Given the description of an element on the screen output the (x, y) to click on. 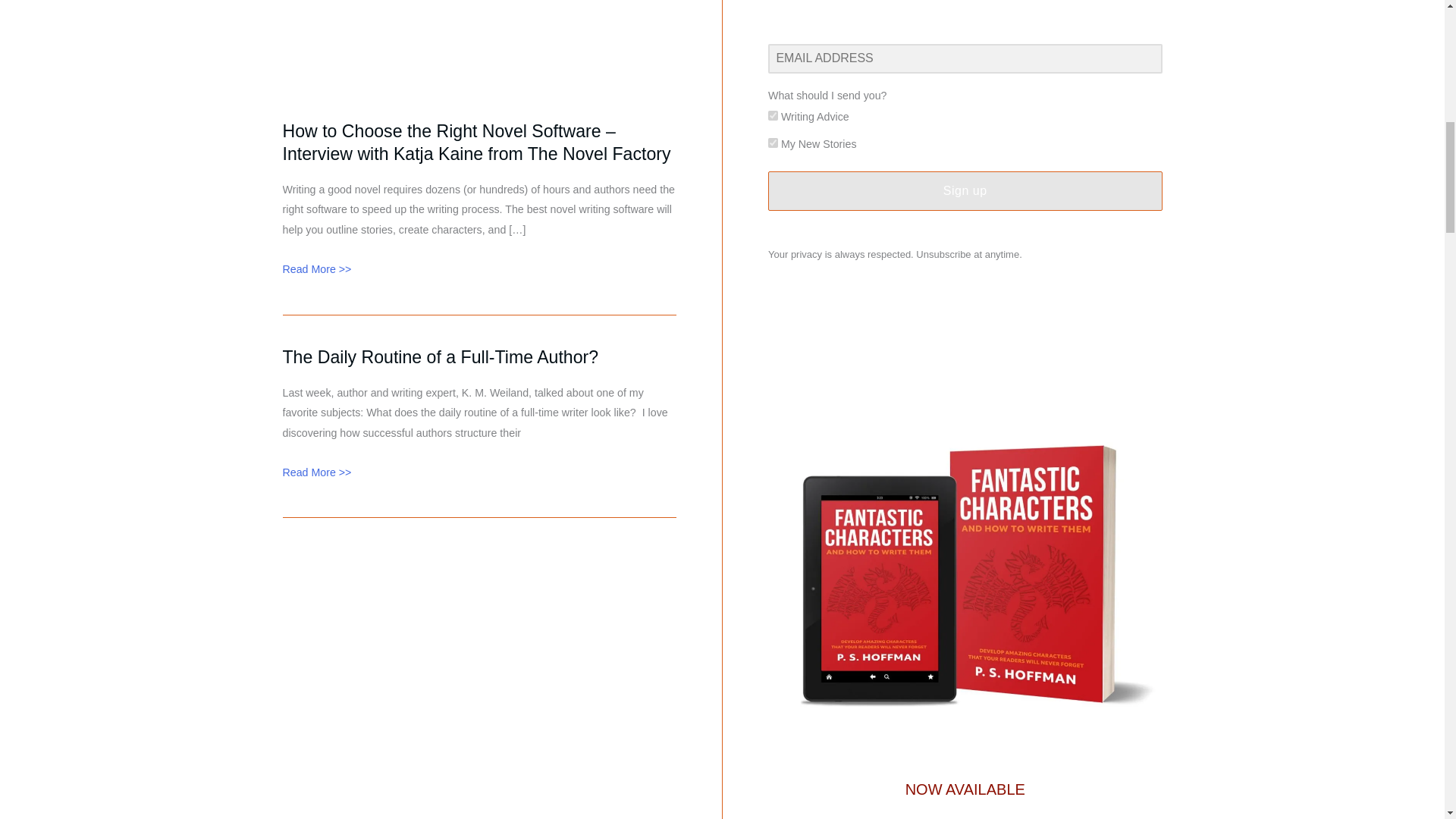
0e75c29d0a (772, 143)
6faf42e928 (772, 115)
The Daily Routine of a Full-Time Author? (440, 356)
